Given the description of an element on the screen output the (x, y) to click on. 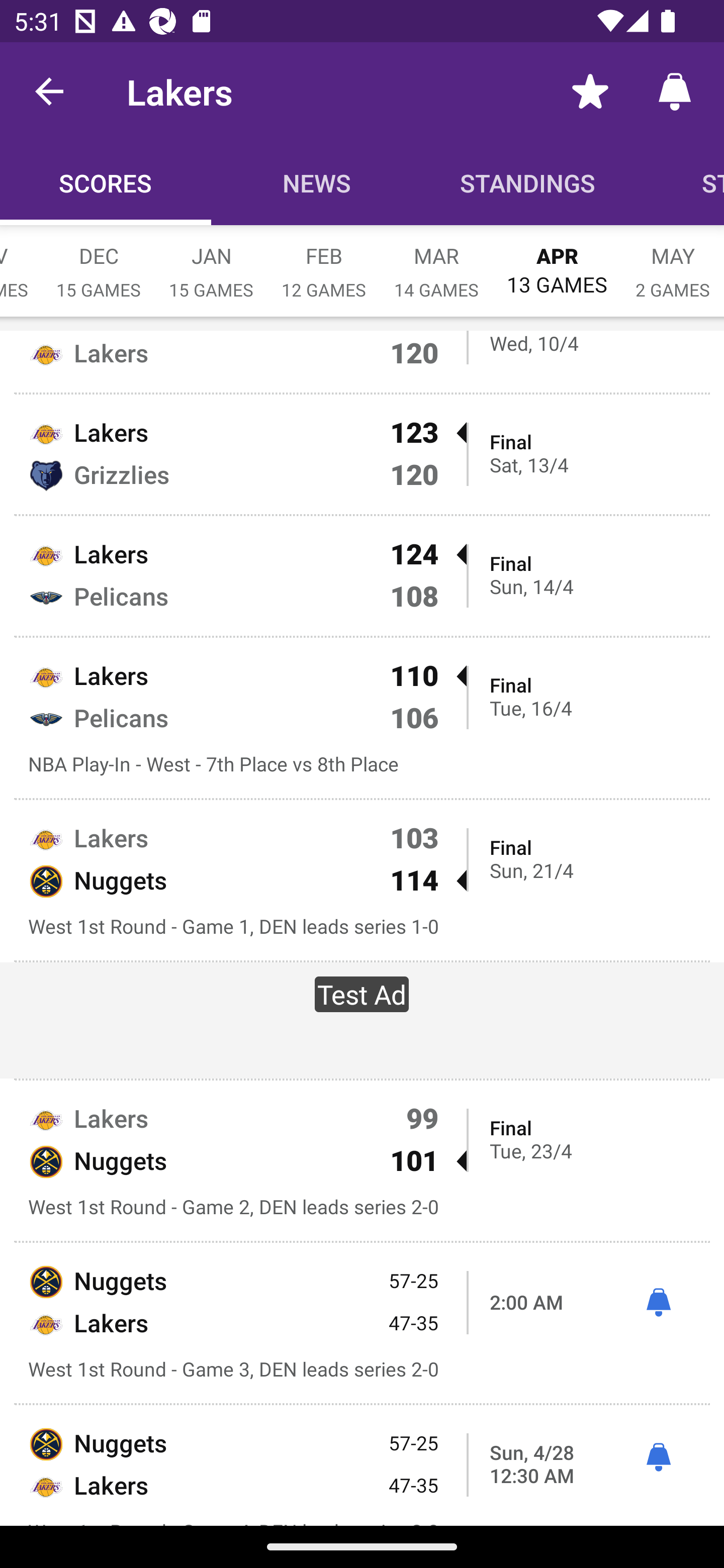
back.button (49, 90)
Favorite toggle (590, 90)
Alerts (674, 90)
News NEWS (316, 183)
Standings STANDINGS (527, 183)
DEC 15 GAMES (97, 262)
JAN 15 GAMES (210, 262)
FEB 12 GAMES (323, 262)
MAR 14 GAMES (436, 262)
APR 13 GAMES (557, 261)
MAY 2 GAMES (672, 262)
Lakers 120 Final Wed, 10/4 (362, 361)
Lakers 123  Grizzlies 120 Final Sat, 13/4 (362, 454)
Lakers 124  Pelicans 108 Final Sun, 14/4 (362, 575)
